Given the description of an element on the screen output the (x, y) to click on. 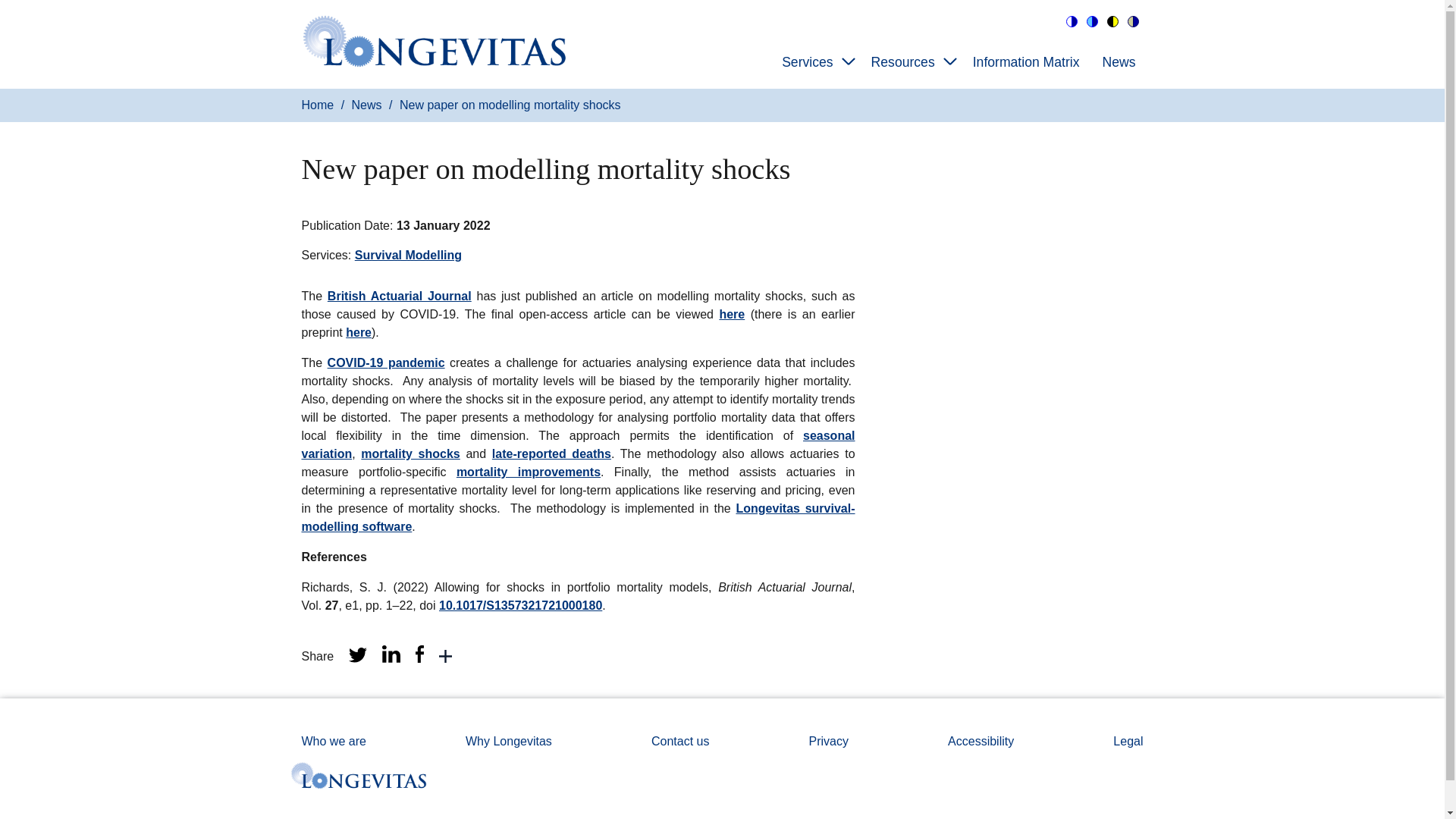
Switch to high visibility theme (1112, 23)
Who we are (333, 740)
Resources (906, 63)
Why Longevitas (508, 740)
Share at Linkedin (390, 658)
mortality improvements (528, 472)
Share at Twitter (357, 658)
New paper on modelling mortality shocks (509, 104)
Longevitas survival-modelling software (578, 517)
late-reported deaths (551, 453)
